Given the description of an element on the screen output the (x, y) to click on. 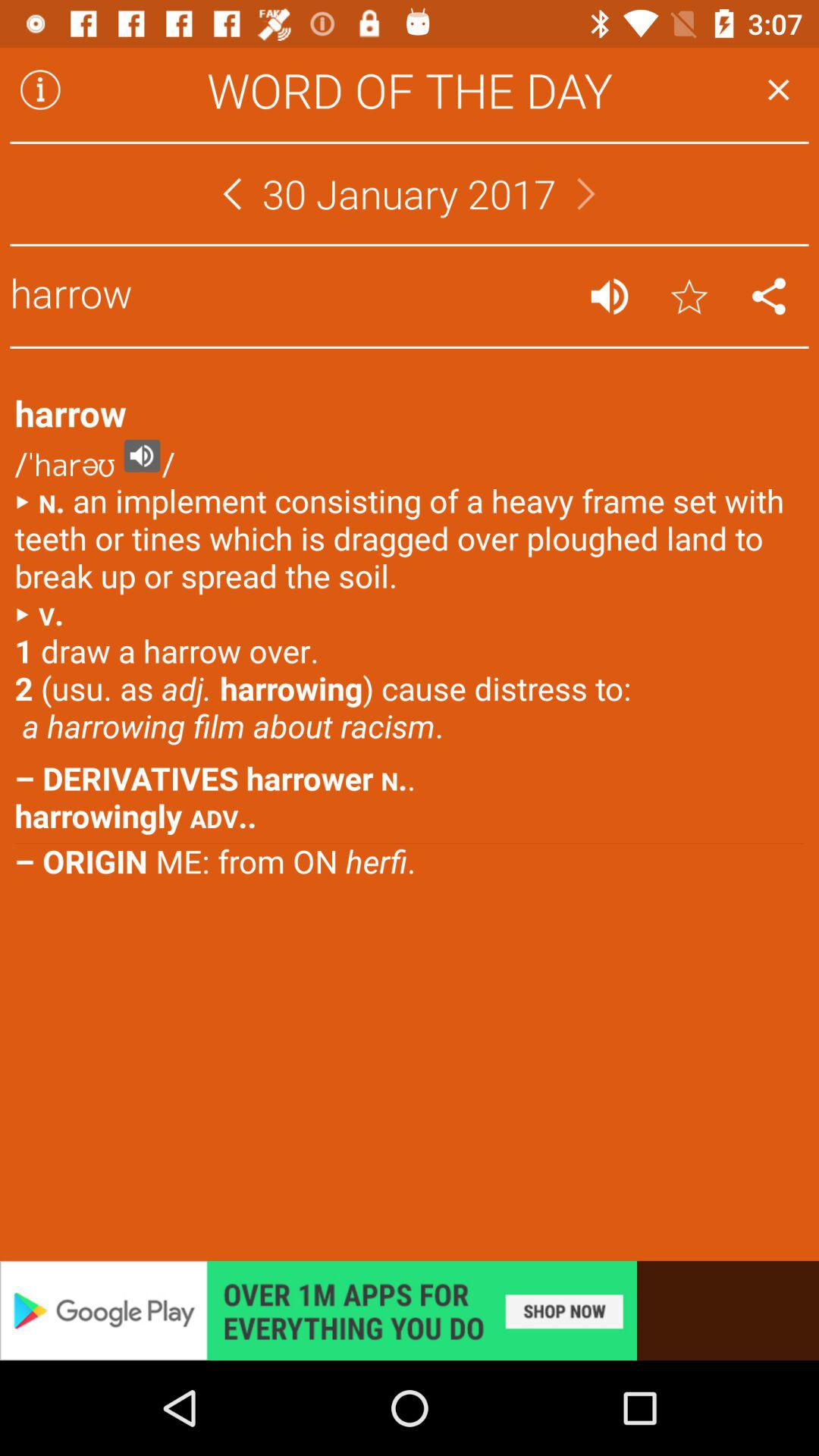
play sound (609, 296)
